Given the description of an element on the screen output the (x, y) to click on. 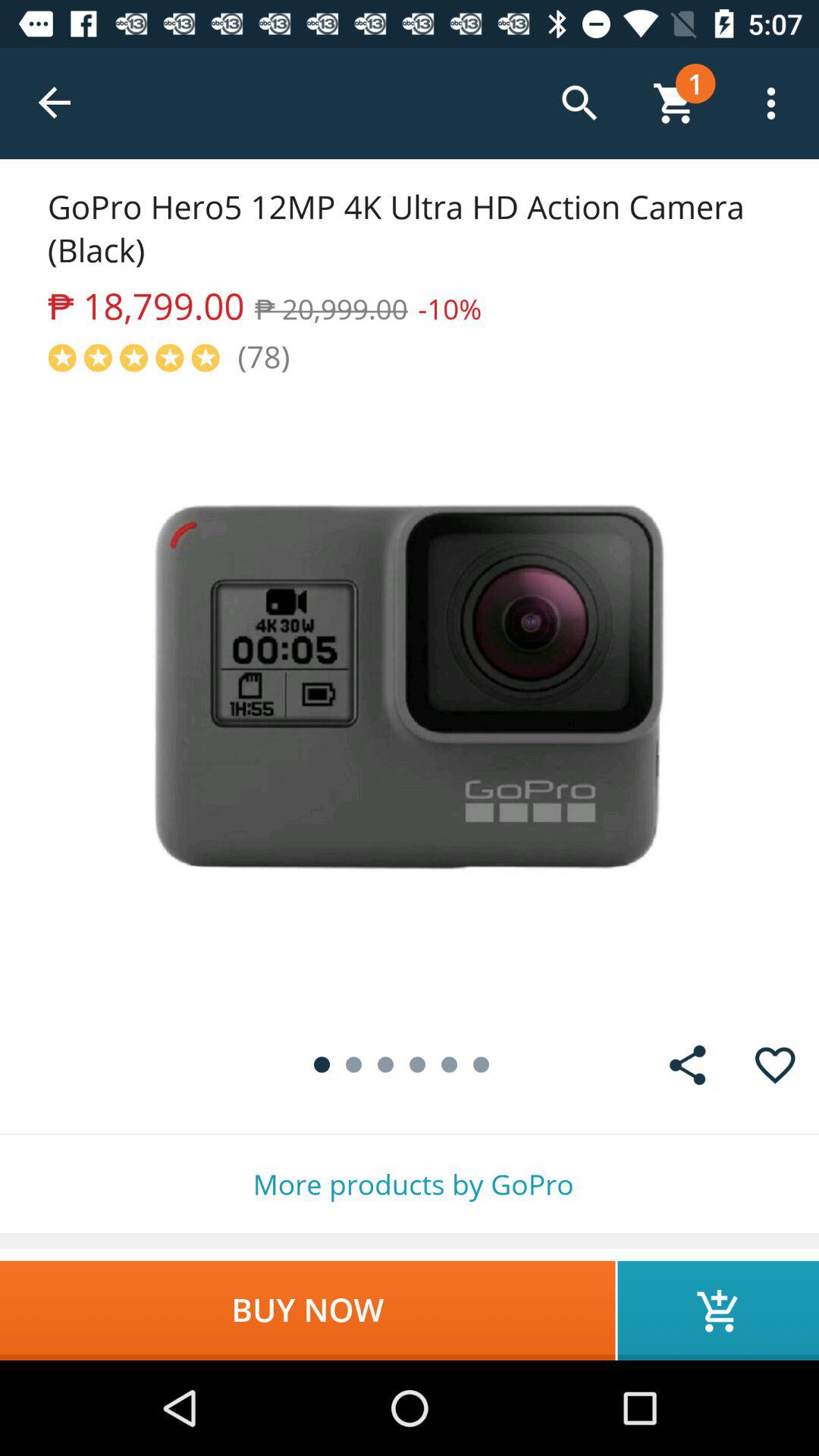
jump to the buy now item (307, 1310)
